Given the description of an element on the screen output the (x, y) to click on. 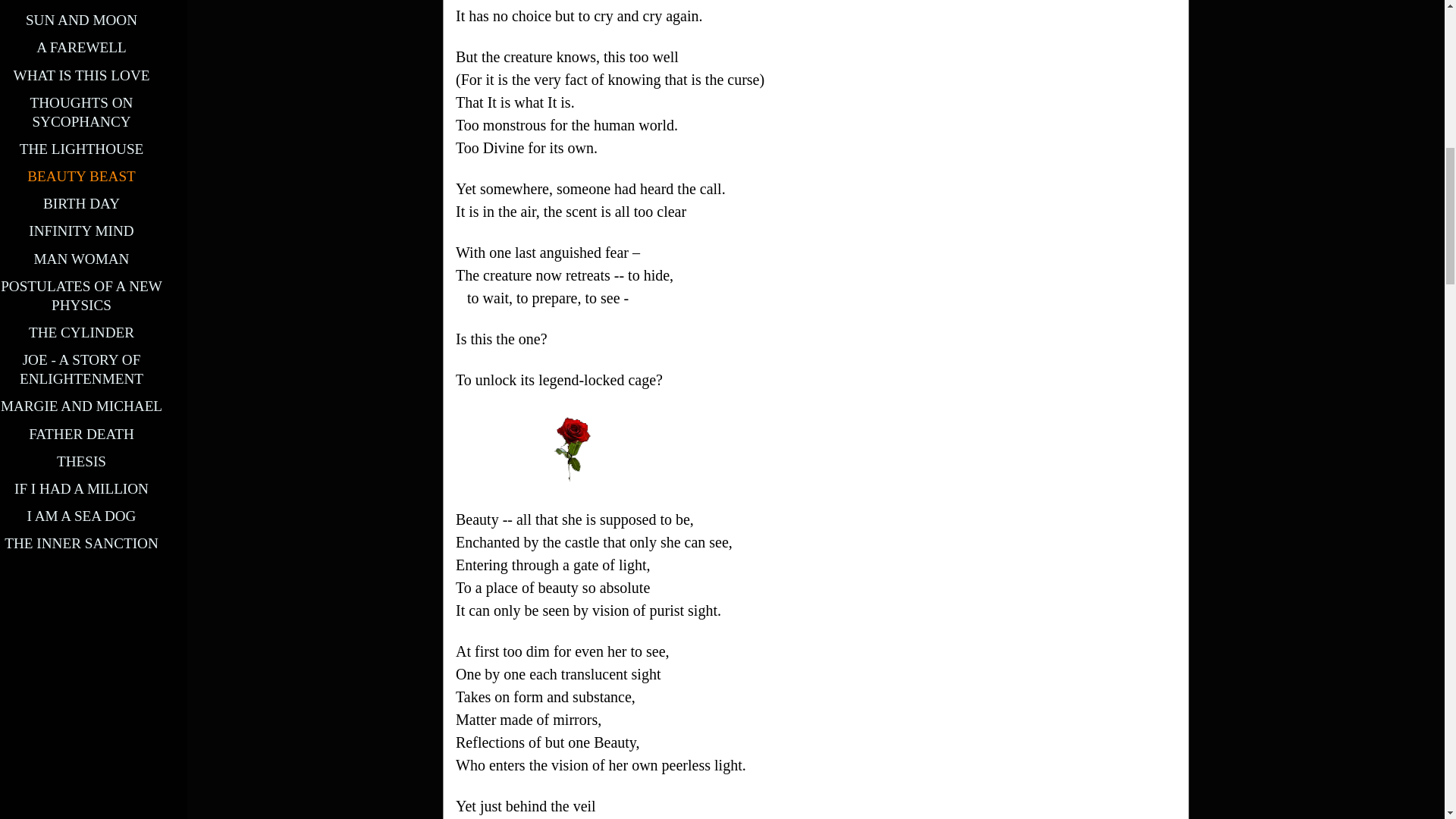
SUN AND MOON (81, 19)
MARGIE AND MICHAEL (81, 406)
WHAT IS THIS LOVE (81, 75)
Shame (81, 0)
A Farewell (81, 47)
BIRTH DAY (81, 203)
THESIS (81, 461)
JOE - A STORY OF ENLIGHTENMENT (81, 369)
SHAME (81, 0)
THOUGHTS ON SYCOPHANCY (81, 112)
Sun and Moon (81, 19)
MAN WOMAN (81, 258)
THE INNER SANCTION (81, 543)
BEAUTY BEAST (81, 176)
A FAREWELL (81, 47)
